Given the description of an element on the screen output the (x, y) to click on. 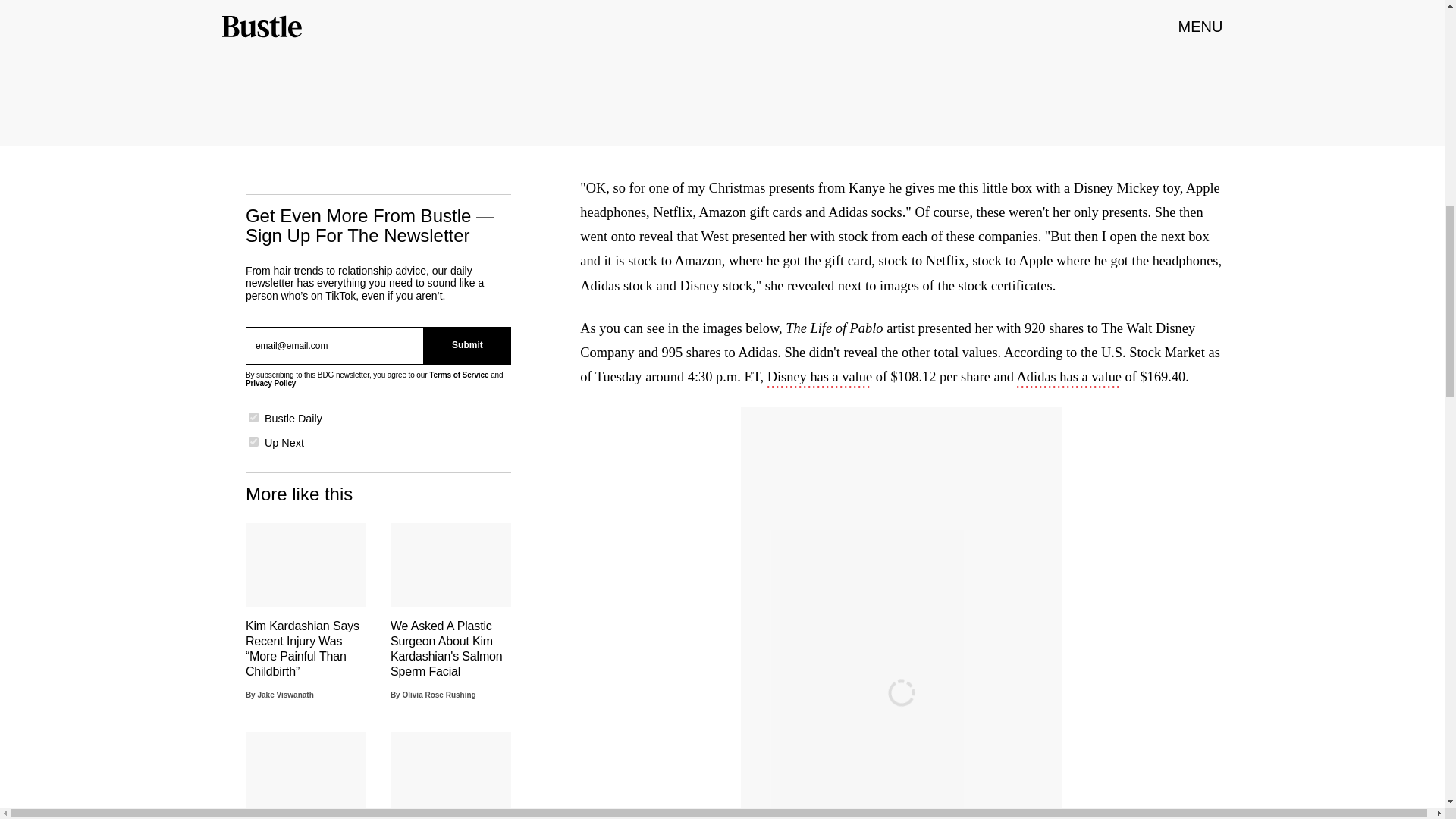
Adidas has a value (1068, 378)
Disney has a value (819, 378)
Privacy Policy (270, 383)
Terms of Service (458, 375)
Submit (467, 345)
